Given the description of an element on the screen output the (x, y) to click on. 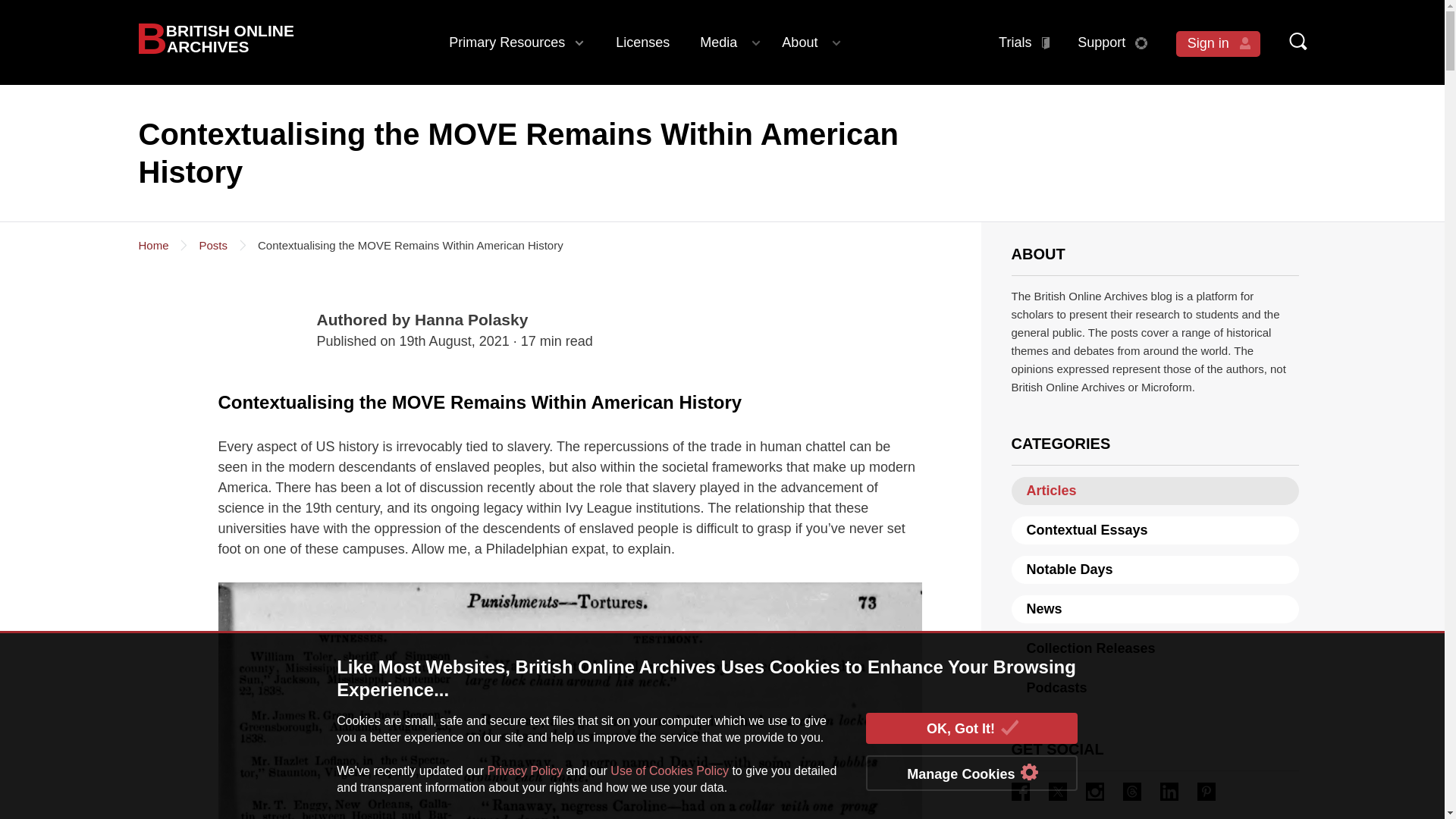
Primary Resources (516, 42)
Licenses (641, 42)
Go to the homepage (216, 38)
